Given the description of an element on the screen output the (x, y) to click on. 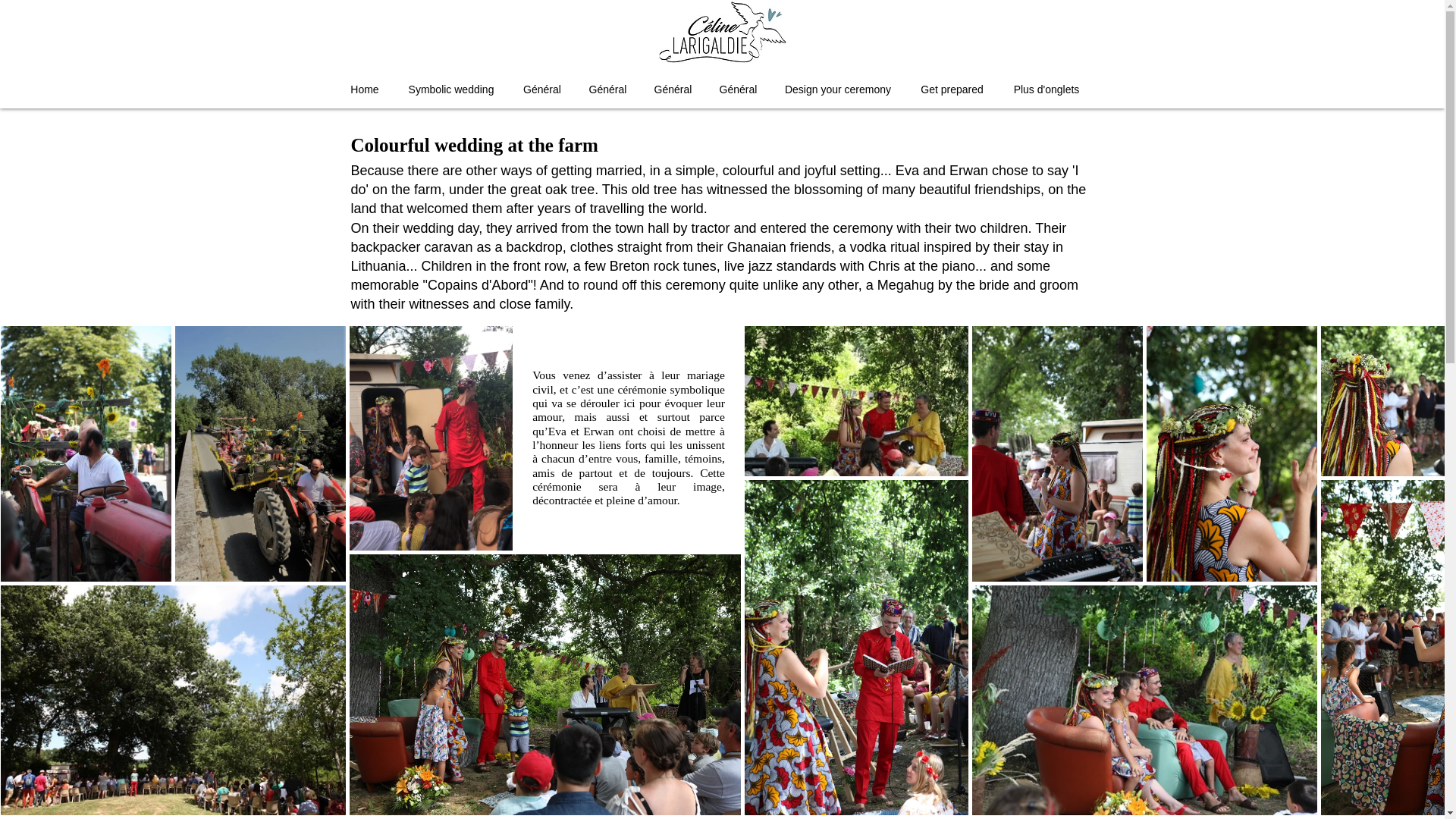
Get prepared (951, 89)
Symbolic wedding (450, 89)
Design your ceremony (837, 89)
Home (364, 89)
